Given the description of an element on the screen output the (x, y) to click on. 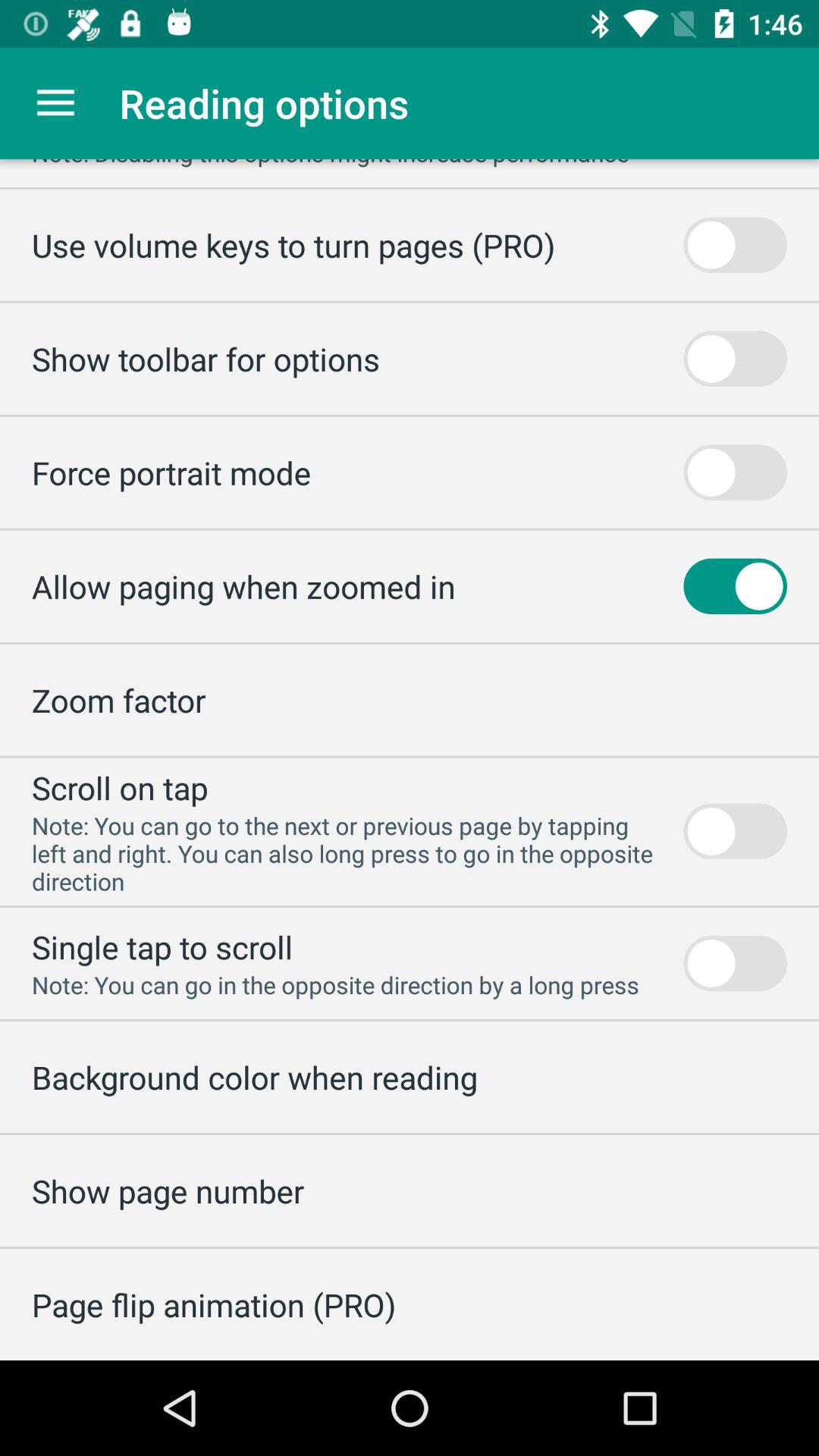
turn on the icon above the note you can (161, 946)
